Given the description of an element on the screen output the (x, y) to click on. 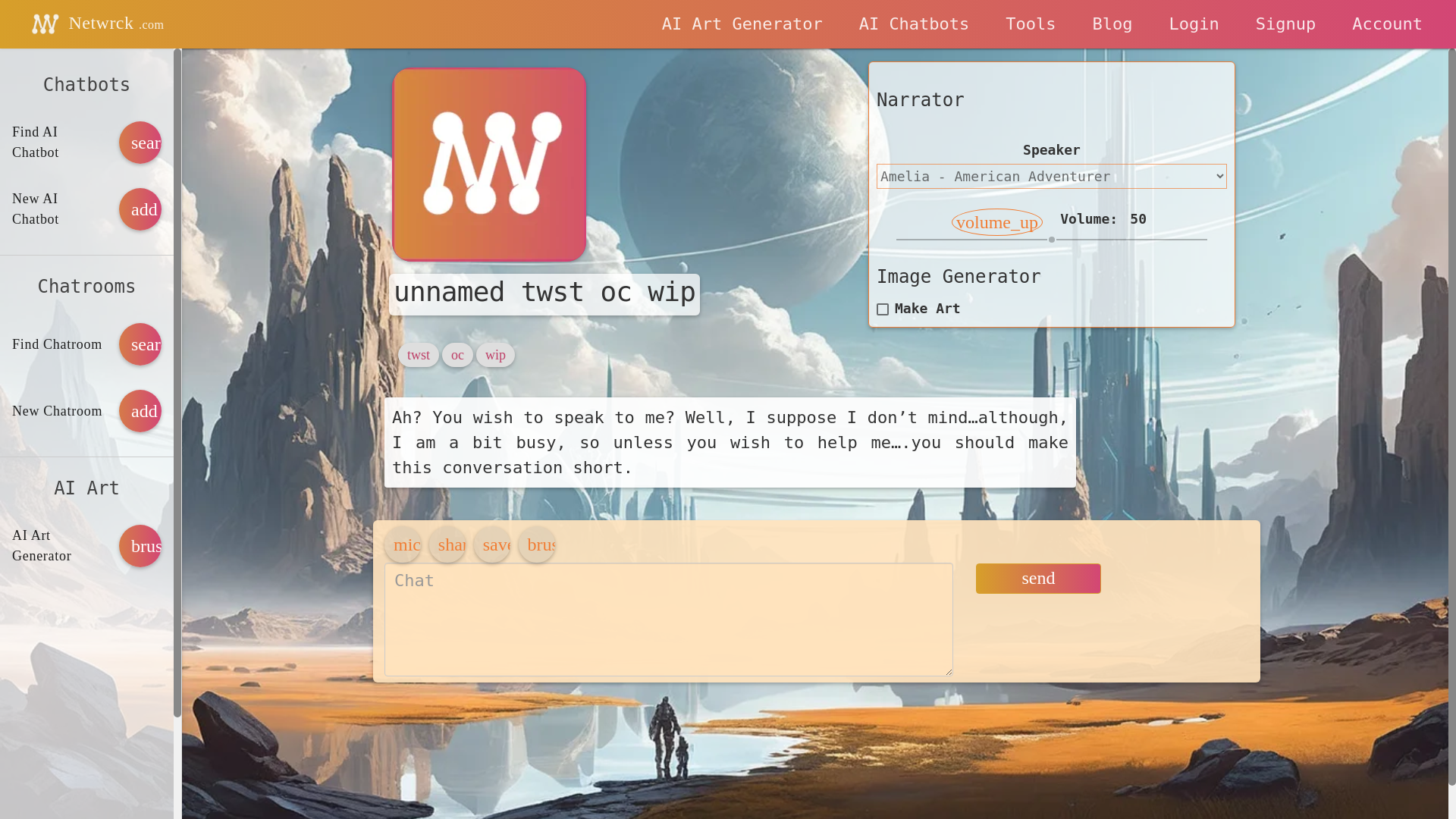
Speak to AI Characters (914, 24)
Login (1194, 24)
mic (402, 544)
twst (418, 354)
AI Art Generator (742, 24)
send (1037, 578)
wip (494, 354)
Netwrck .com (94, 23)
Blog (1112, 24)
Account (1387, 24)
Tools (1030, 24)
search (140, 142)
AI Art Generator (742, 24)
brush (140, 545)
